Given the description of an element on the screen output the (x, y) to click on. 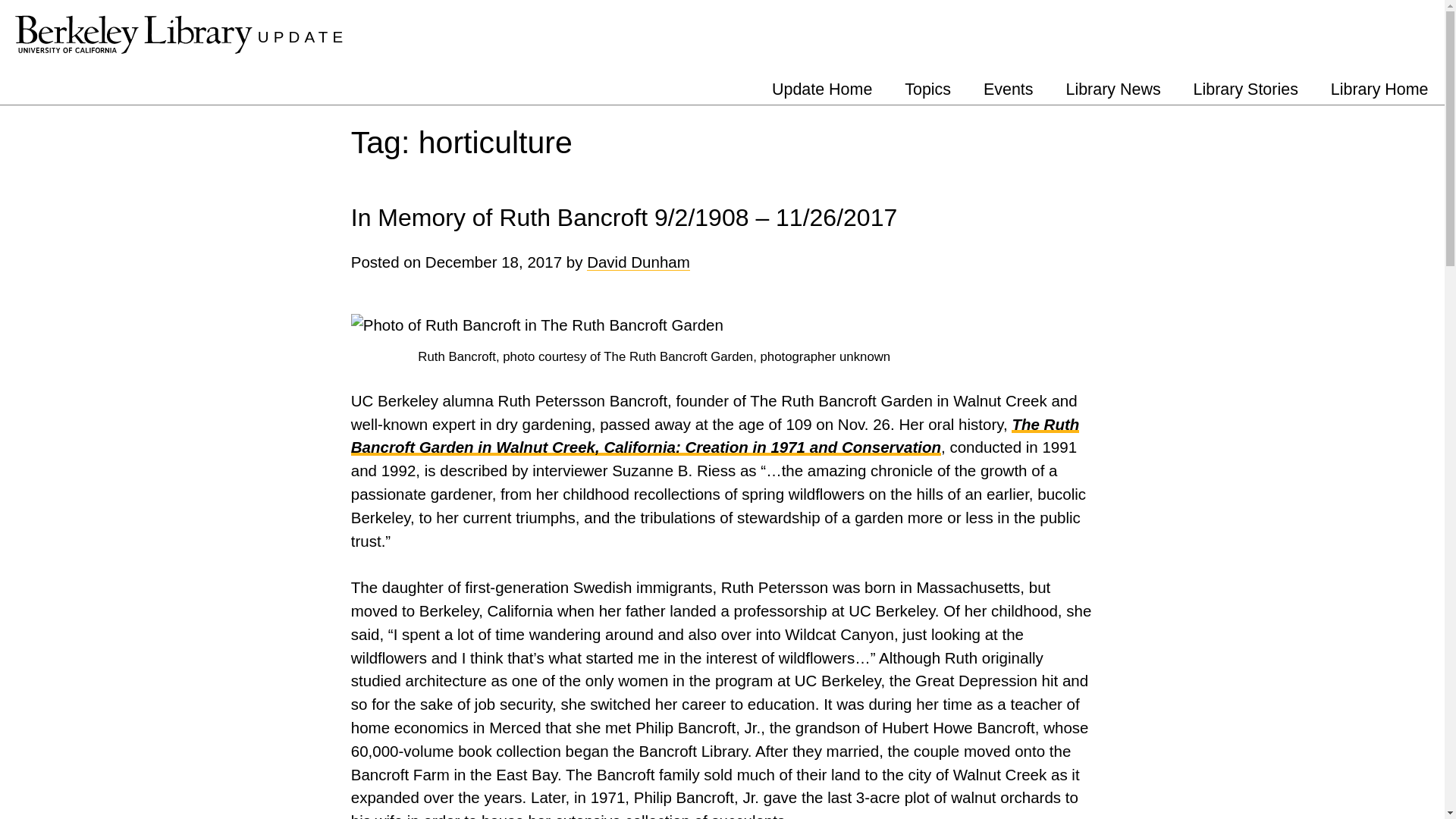
Events (1007, 88)
Update Home (822, 88)
Library News (1112, 88)
Topics (927, 88)
Show and hide search (1432, 29)
David Dunham (638, 262)
Library Stories (1245, 88)
Library Home (1378, 88)
UPDATE (302, 36)
